Given the description of an element on the screen output the (x, y) to click on. 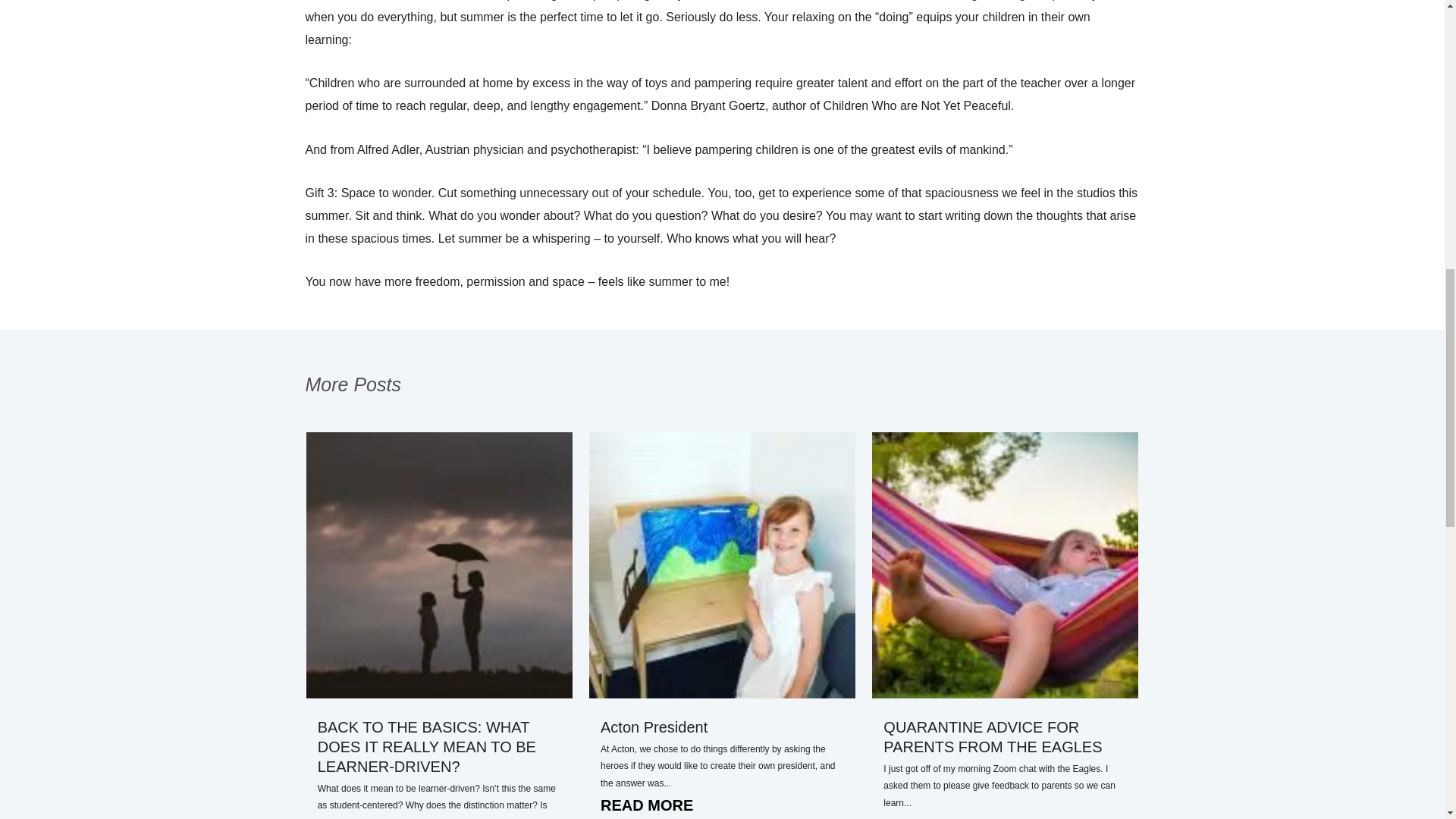
Acton President (653, 727)
READ MORE (721, 805)
READ MORE (1004, 815)
QUARANTINE ADVICE FOR PARENTS FROM THE EAGLES (992, 737)
QUARANTINE ADVICE FOR PARENTS FROM THE EAGLES (992, 737)
Acton President (653, 727)
